Given the description of an element on the screen output the (x, y) to click on. 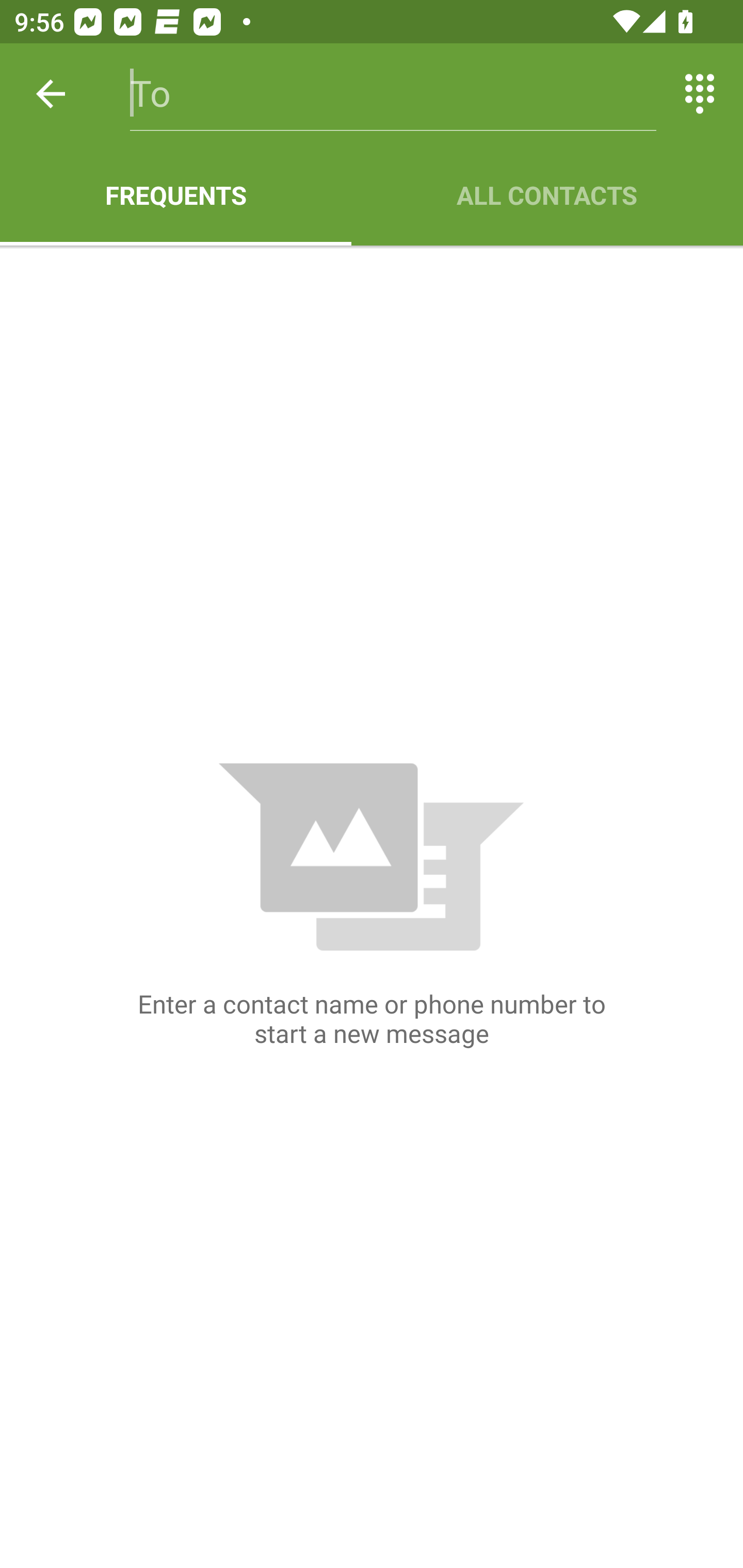
Back (50, 93)
Switch between entering text and numbers (699, 93)
To (393, 93)
FREQUENTS (175, 195)
ALL CONTACTS (547, 195)
